Given the description of an element on the screen output the (x, y) to click on. 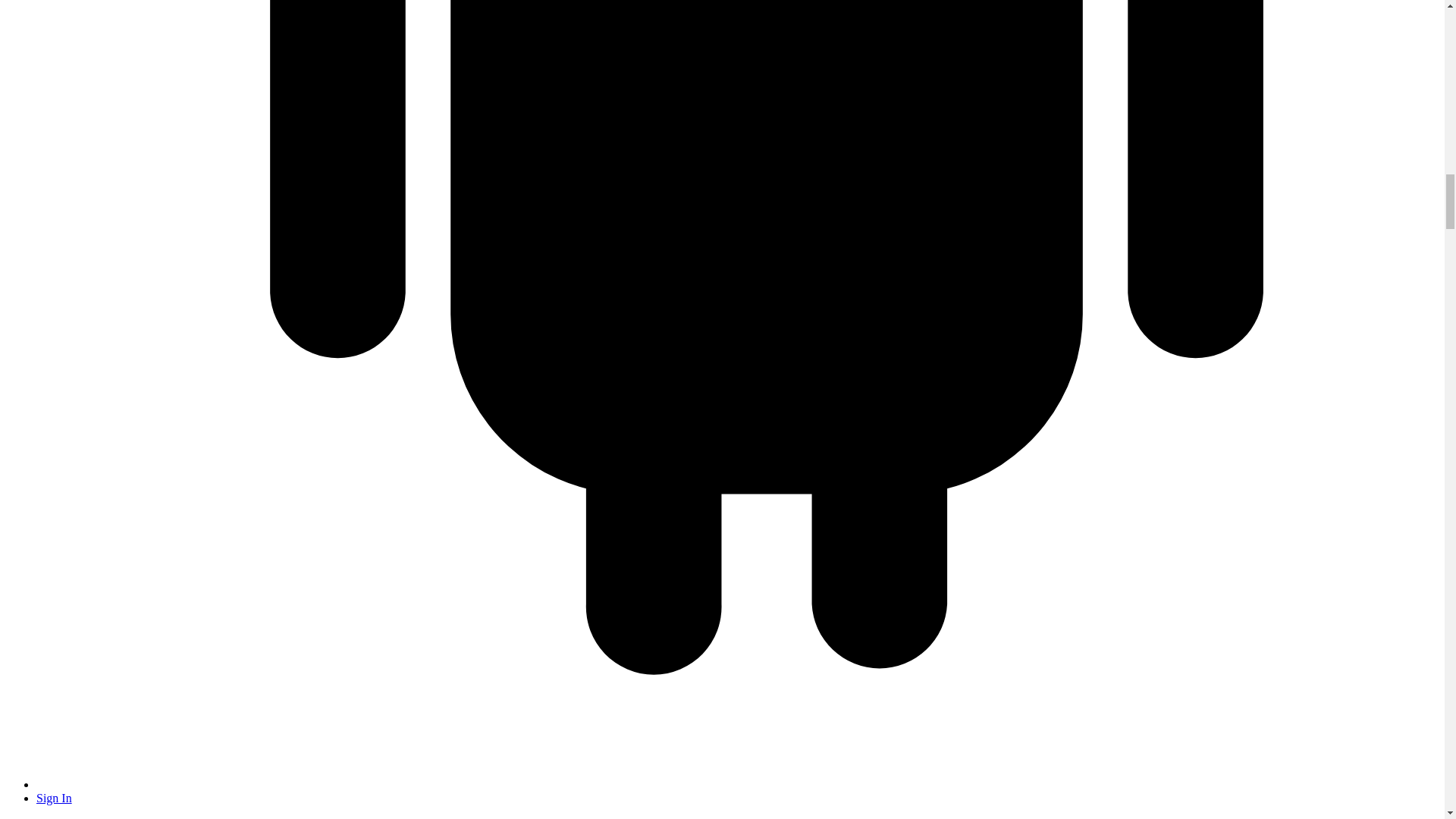
Sign In (53, 797)
